Given the description of an element on the screen output the (x, y) to click on. 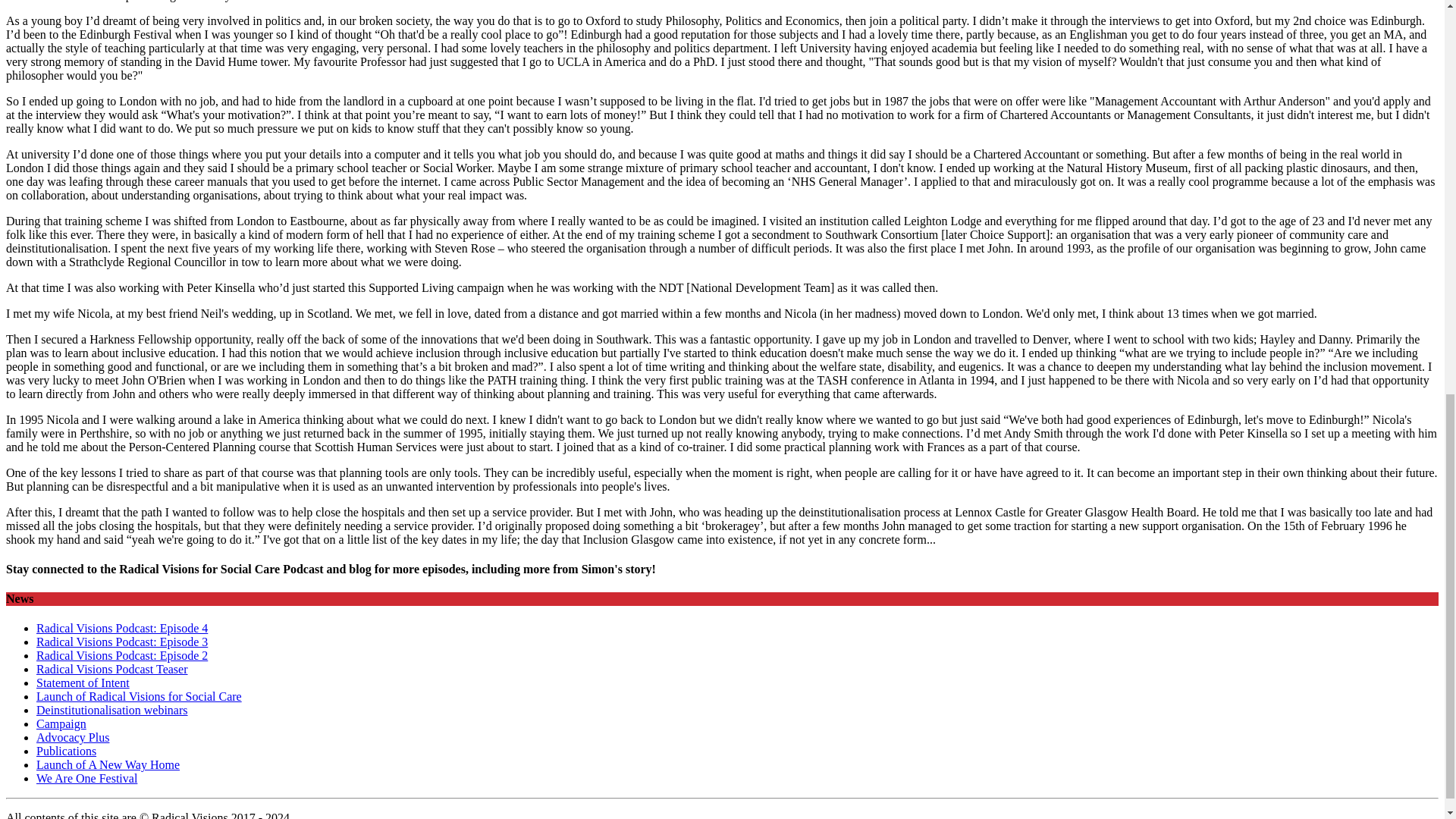
Advocacy Plus (72, 737)
Launch of Radical Visions for Social Care (138, 696)
Radical Visions Podcast Teaser (111, 668)
Radical Visions Podcast: Episode 2 (122, 655)
Publications (66, 750)
Radical Visions Podcast: Episode 4 (122, 627)
Launch of A New Way Home (107, 764)
Radical Visions Podcast: Episode 3 (122, 641)
Campaign (60, 723)
Statement of Intent (82, 682)
